Given the description of an element on the screen output the (x, y) to click on. 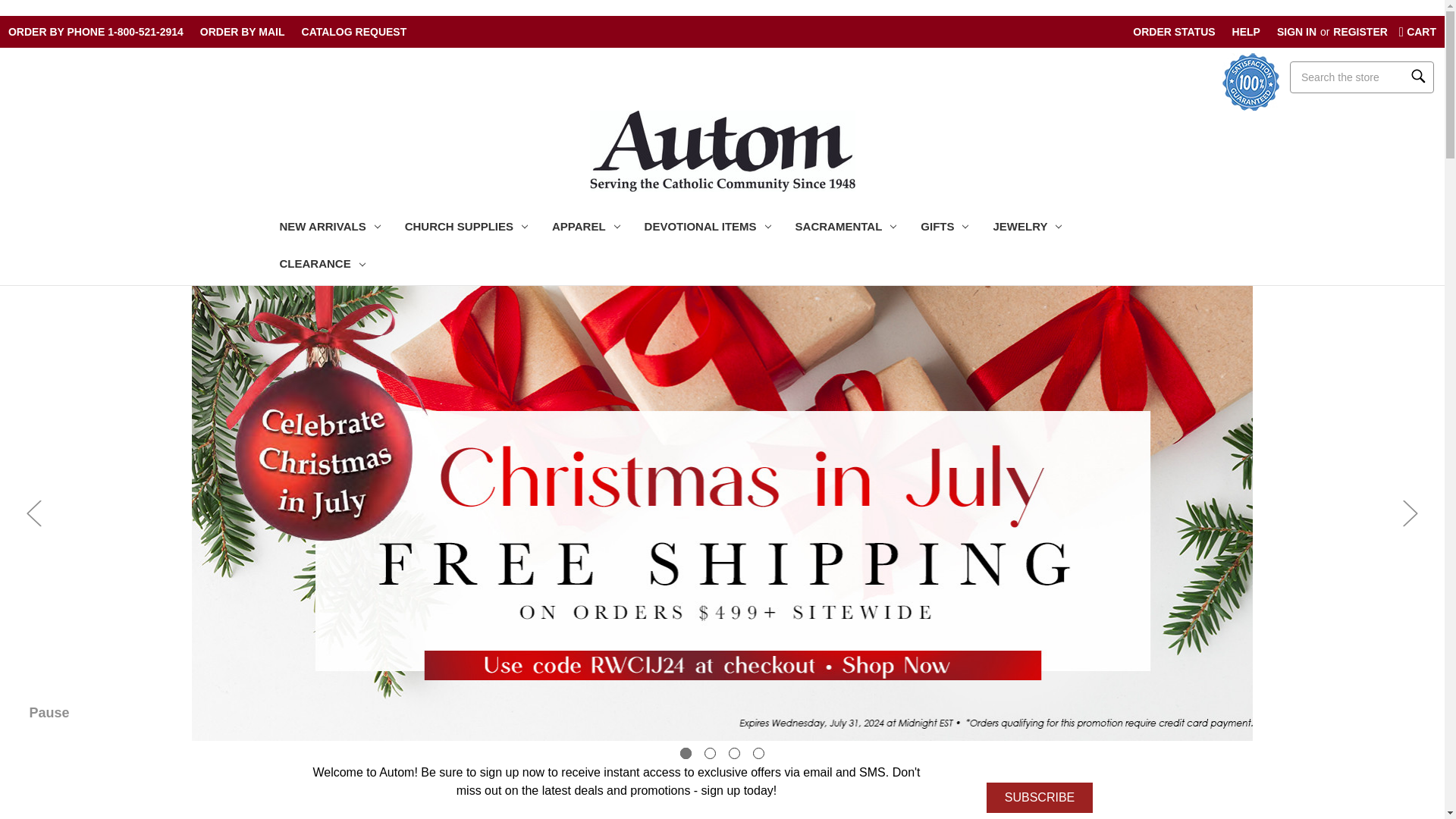
REGISTER (1360, 34)
ORDER BY PHONE 1-800-521-2914 (96, 34)
CHURCH SUPPLIES (466, 228)
ORDER BY MAIL (243, 34)
SIGN IN (1296, 34)
NEW ARRIVALS (328, 228)
ORDER STATUS (1173, 34)
CATALOG REQUEST (354, 34)
HELP (1246, 34)
